Given the description of an element on the screen output the (x, y) to click on. 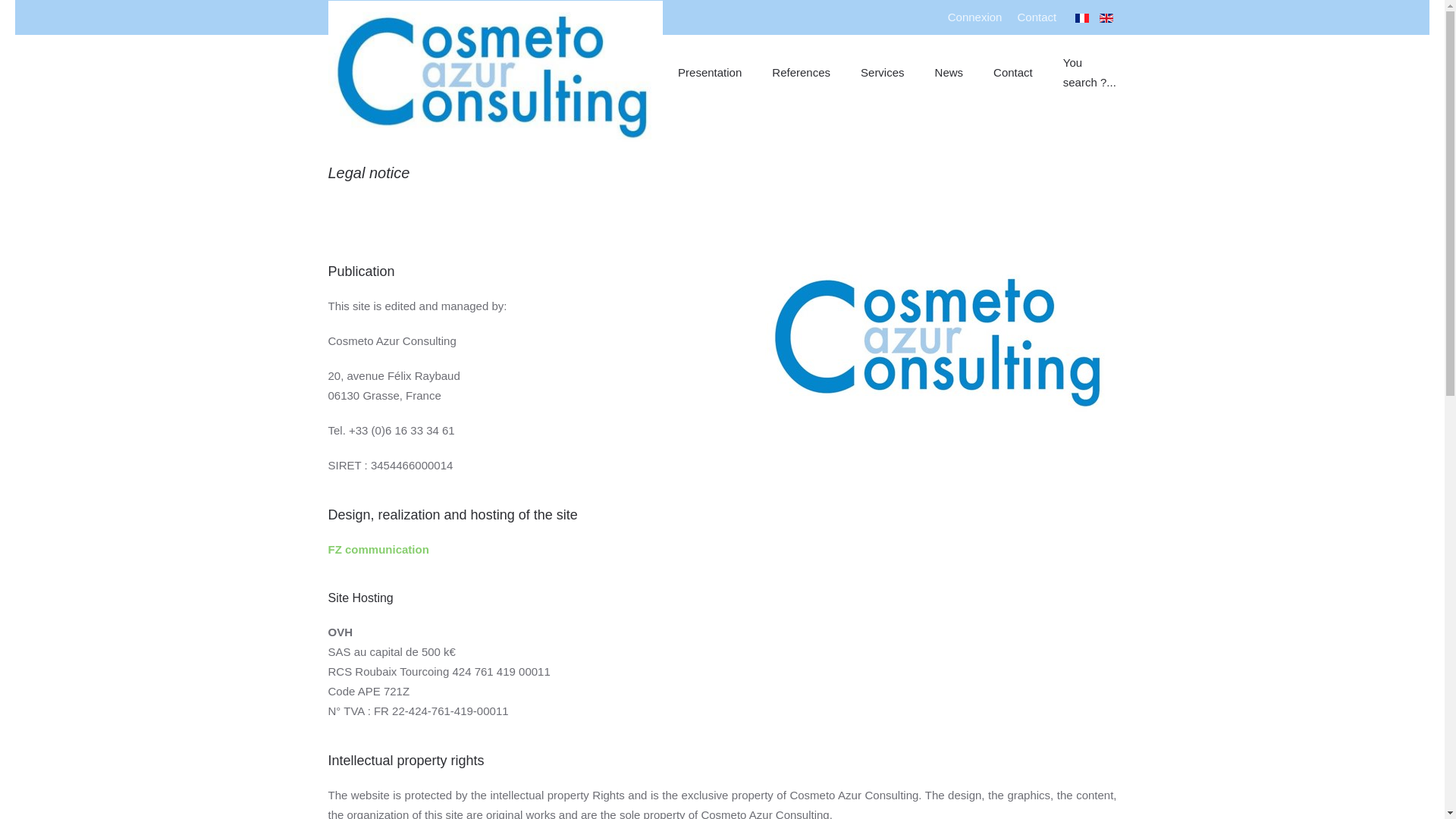
FZ communication  (379, 549)
Presentation (709, 72)
Services (882, 72)
You search ?... (1090, 72)
Connexion (975, 17)
References (801, 72)
Contact (1013, 72)
Contact (1036, 17)
